Given the description of an element on the screen output the (x, y) to click on. 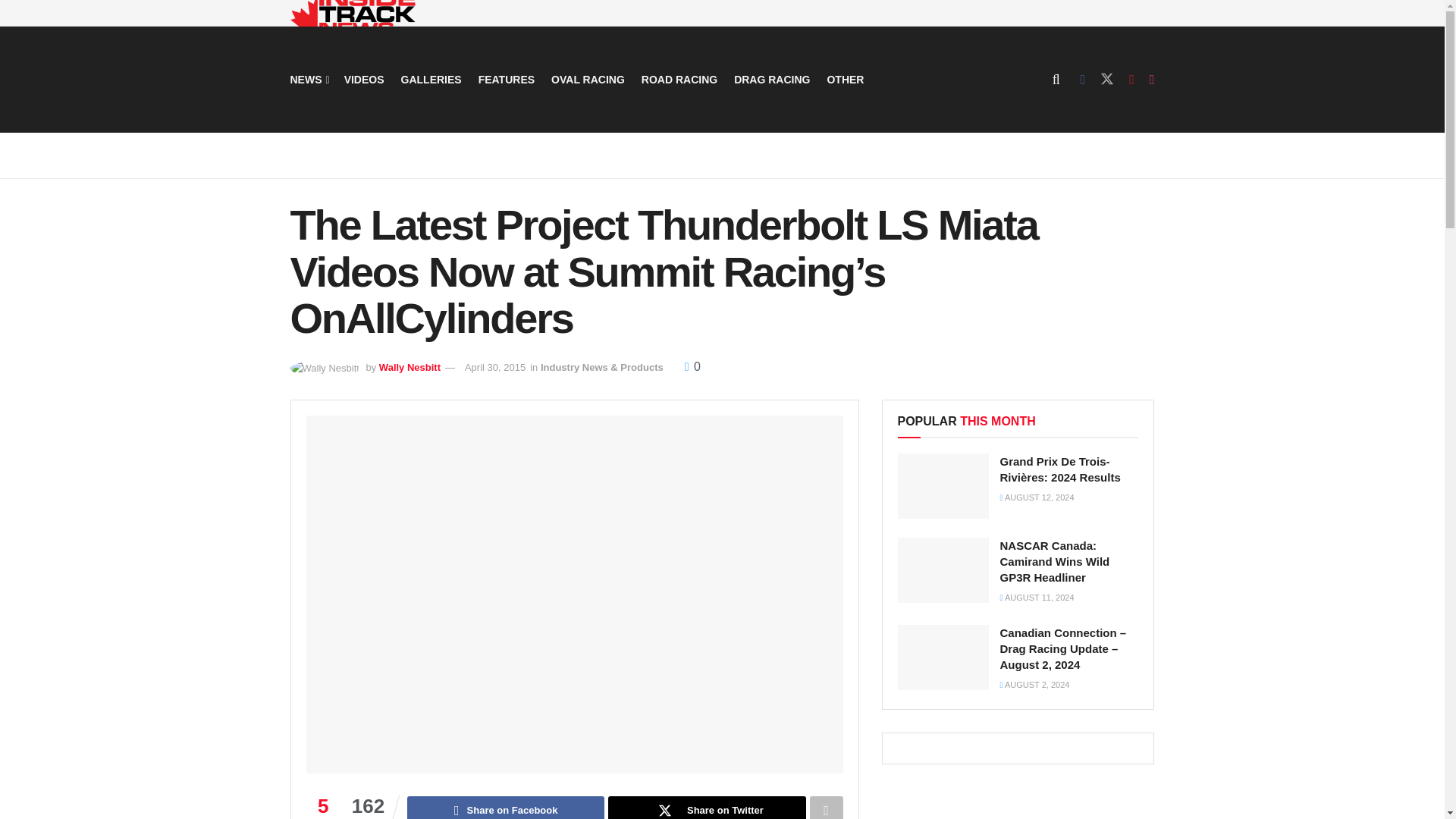
GALLERIES (431, 79)
OTHER (845, 79)
NEWS (307, 79)
DRAG RACING (771, 79)
OVAL RACING (587, 79)
FEATURES (506, 79)
VIDEOS (363, 79)
ROAD RACING (679, 79)
